Given the description of an element on the screen output the (x, y) to click on. 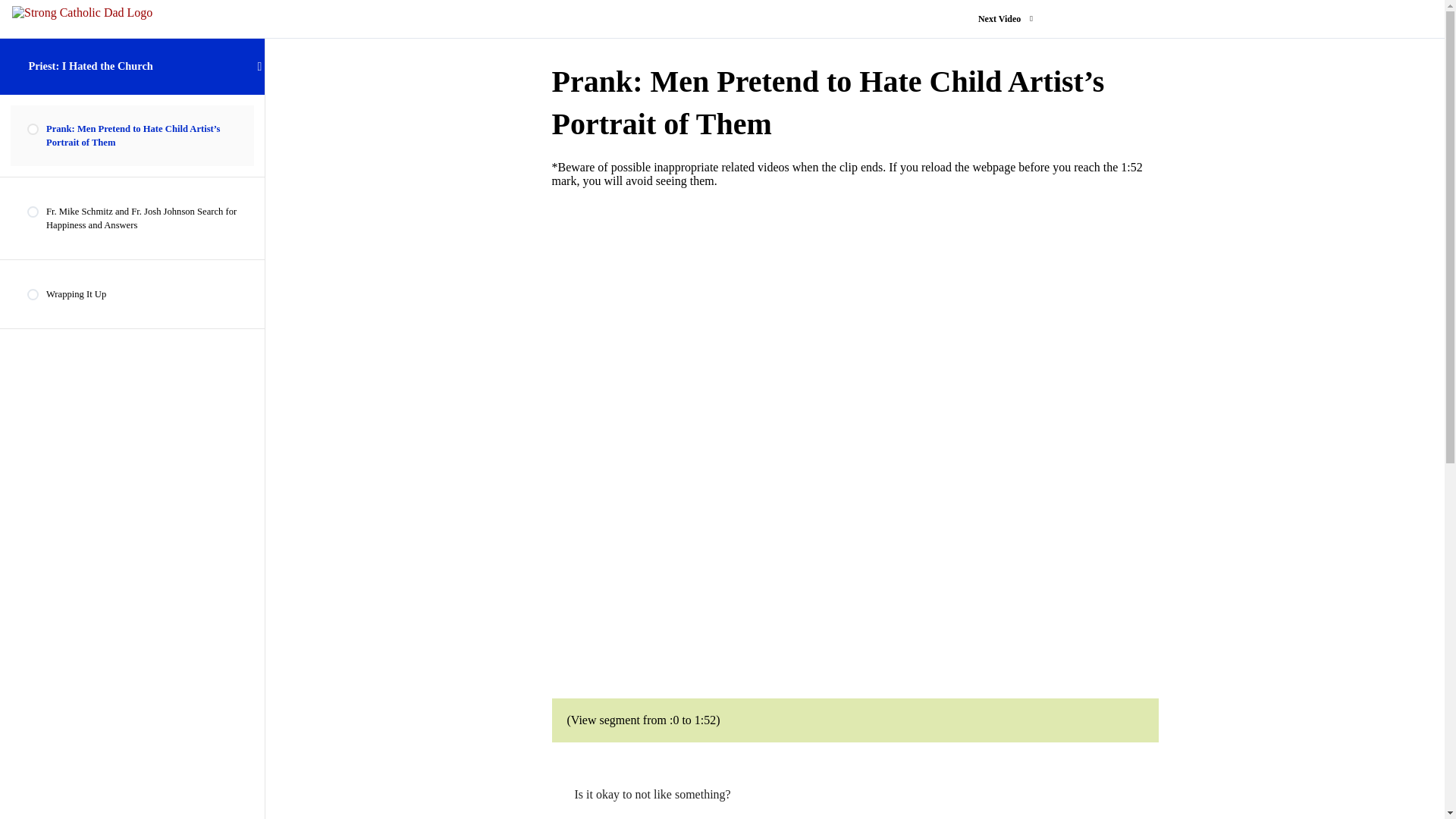
Wrapping It Up (131, 293)
Priest: I Hated the Church (89, 65)
Next Video (1001, 18)
